Given the description of an element on the screen output the (x, y) to click on. 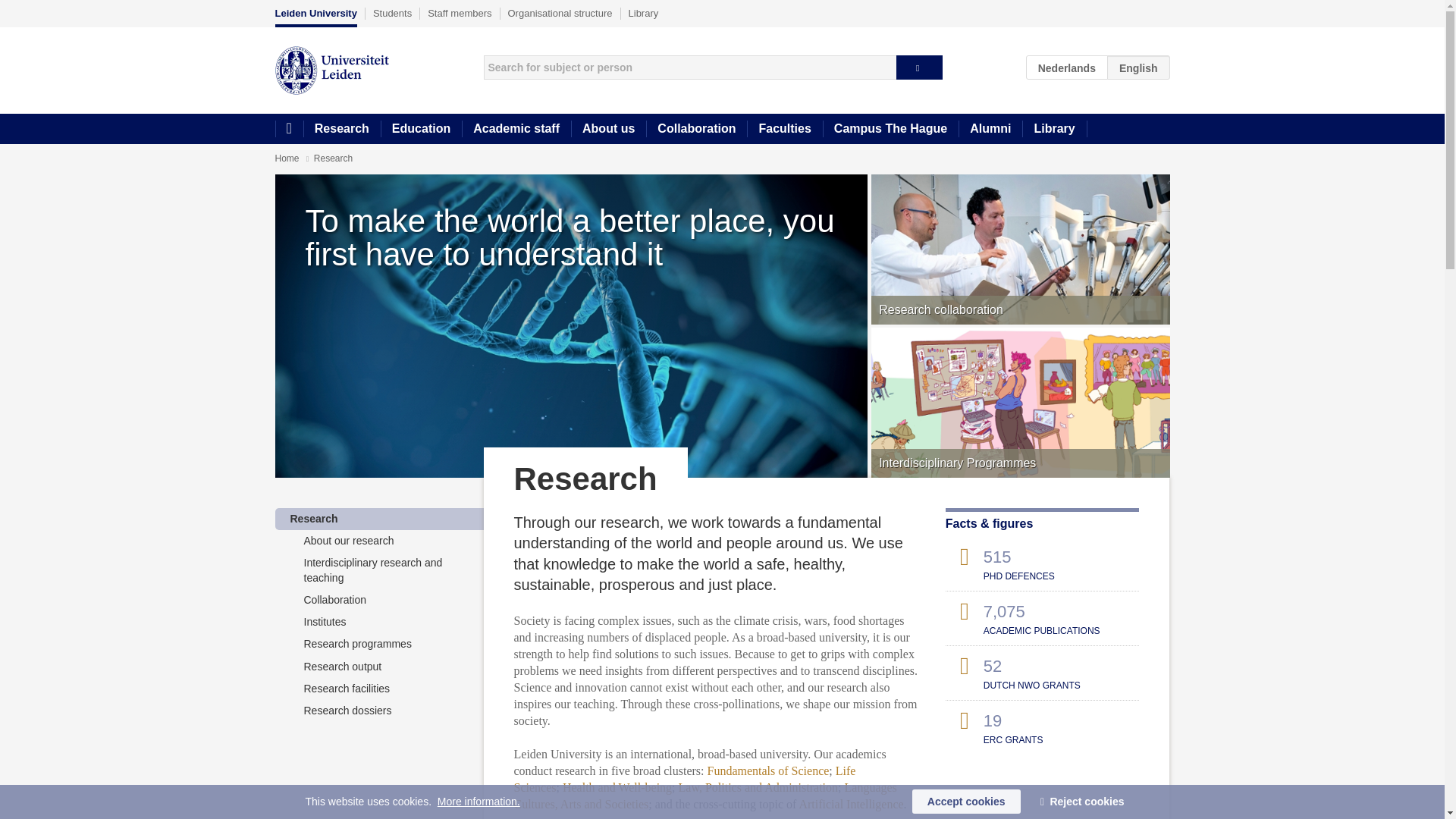
Interdisciplinary Programmes (1019, 411)
Library (1054, 128)
Research (313, 518)
Education (420, 128)
Search (919, 67)
About our research (347, 540)
About our research (347, 540)
Research collaboration (1019, 258)
Research (341, 128)
Research (313, 518)
Library (643, 13)
Academic staff (515, 128)
NL (1067, 67)
Collaboration (334, 599)
Leiden University (315, 17)
